Given the description of an element on the screen output the (x, y) to click on. 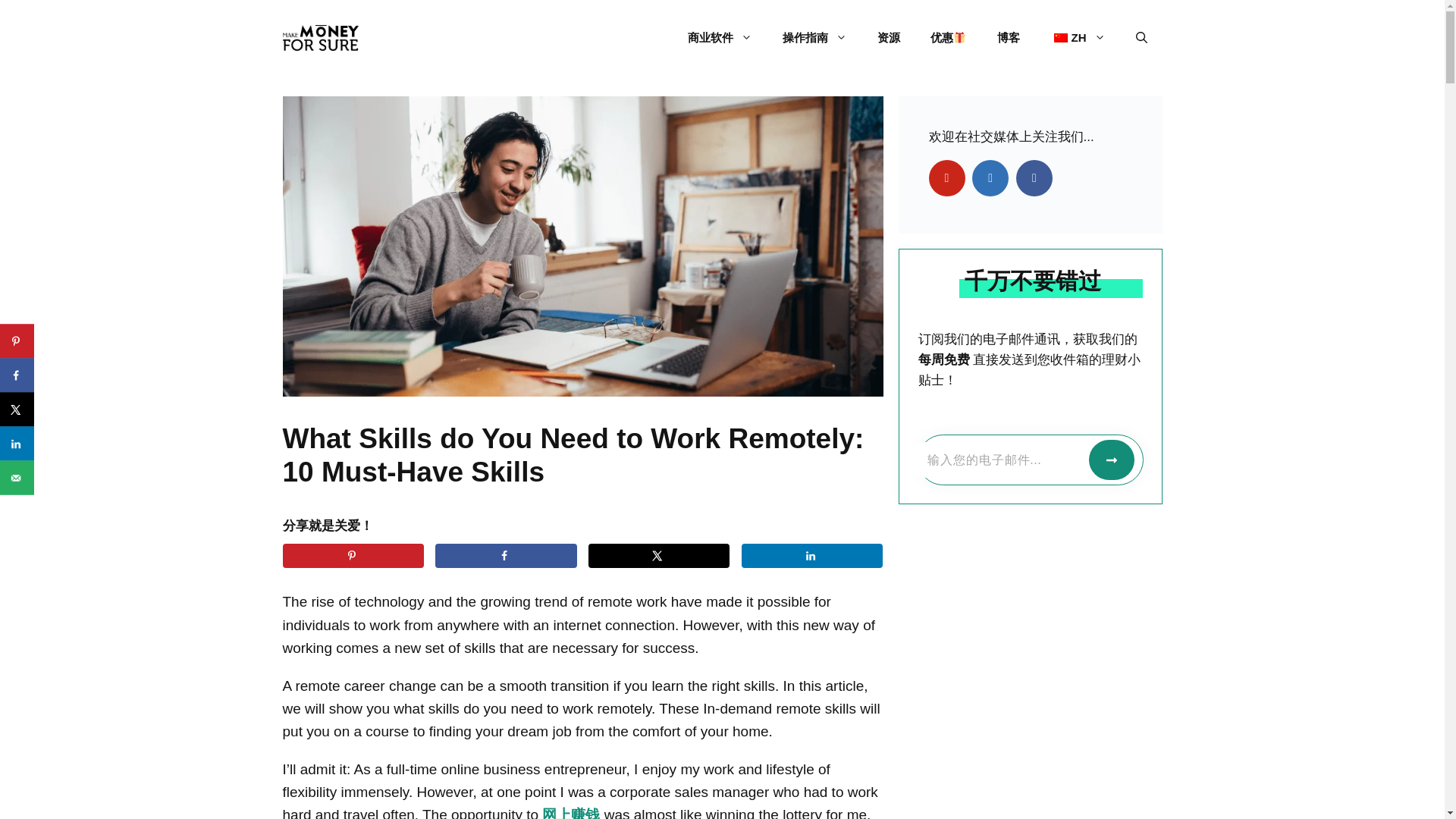
ZH (1076, 37)
Chinese (1060, 37)
